Given the description of an element on the screen output the (x, y) to click on. 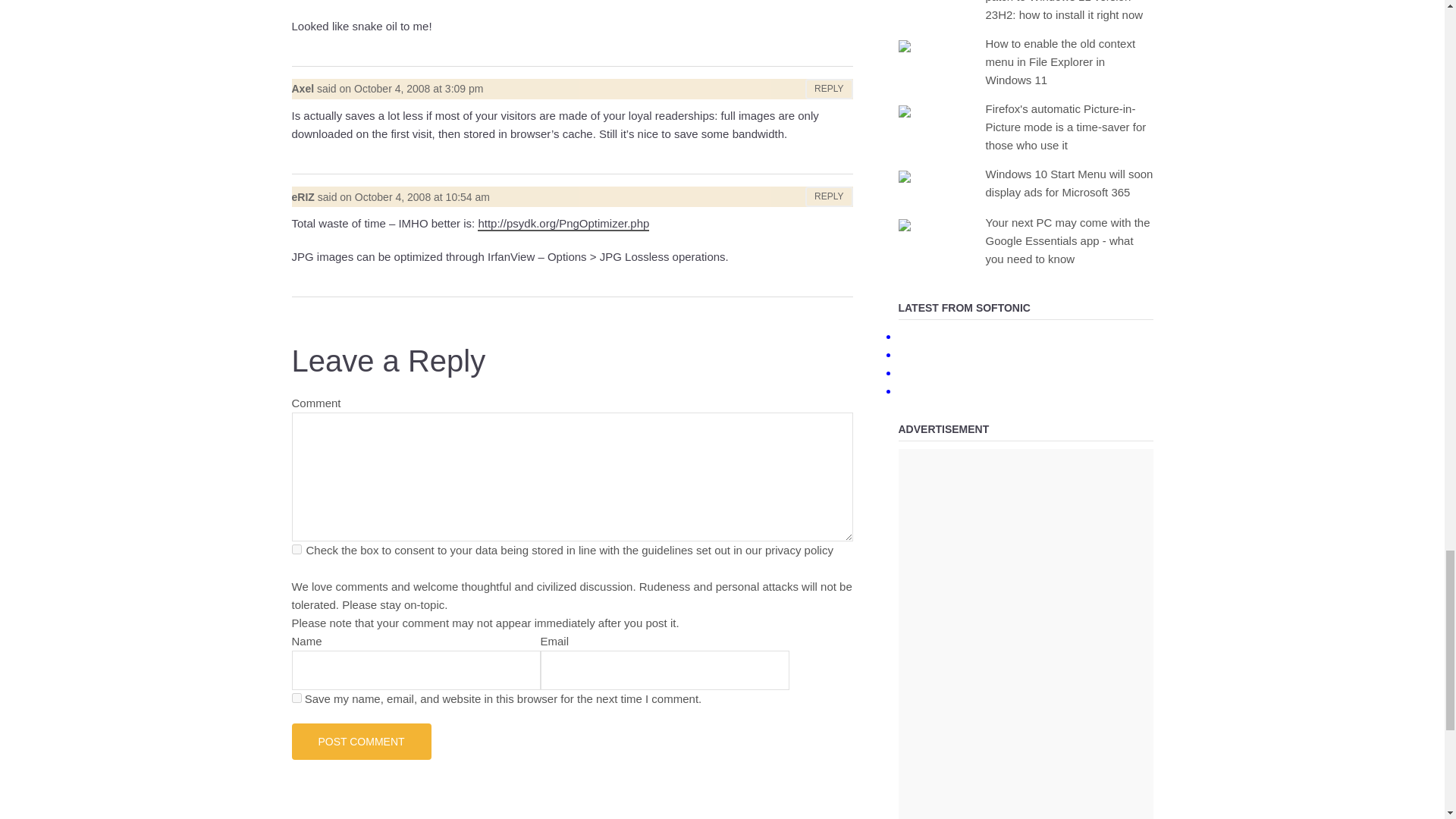
Post Comment (360, 741)
privacy-key (296, 549)
yes (296, 697)
